Given the description of an element on the screen output the (x, y) to click on. 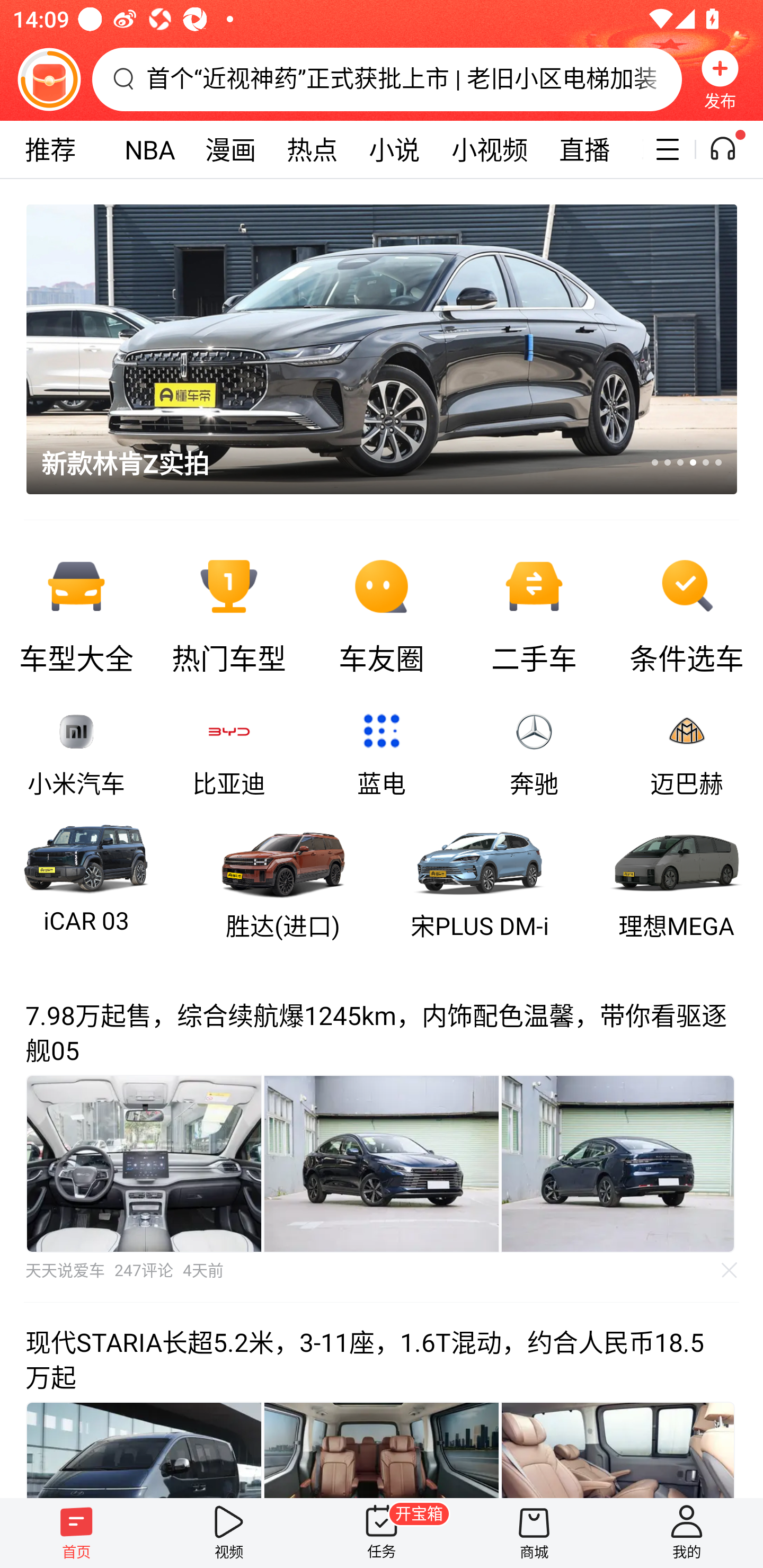
阅读赚金币 (48, 79)
发布 发布，按钮 (720, 78)
推荐 (49, 149)
NBA (148, 149)
漫画 (230, 149)
热点 (312, 149)
小说 (394, 149)
小视频 (489, 149)
直播 (584, 149)
听一听开关 (732, 149)
新款林肯Z实拍 (368, 348)
车型大全按钮 (76, 612)
热门车型按钮 (228, 612)
车友圈按钮 (381, 612)
二手车按钮 (533, 612)
条件选车按钮 (686, 612)
小米汽车按钮 (76, 754)
比亚迪按钮 (228, 754)
蓝电按钮 (381, 754)
奔驰按钮 (533, 754)
迈巴赫按钮 (686, 754)
iCAR 03按钮 (86, 879)
胜达(进口)按钮 (283, 879)
宋PLUS DM-i按钮 (479, 879)
理想MEGA按钮 (676, 879)
三张内容图片 内容图片 内容图片 内容图片 (381, 1163)
内容图片 (381, 1163)
内容图片 (617, 1163)
不感兴趣 (729, 1269)
首页 (76, 1532)
视频 (228, 1532)
任务 开宝箱 (381, 1532)
商城 (533, 1532)
我的 (686, 1532)
